Given the description of an element on the screen output the (x, y) to click on. 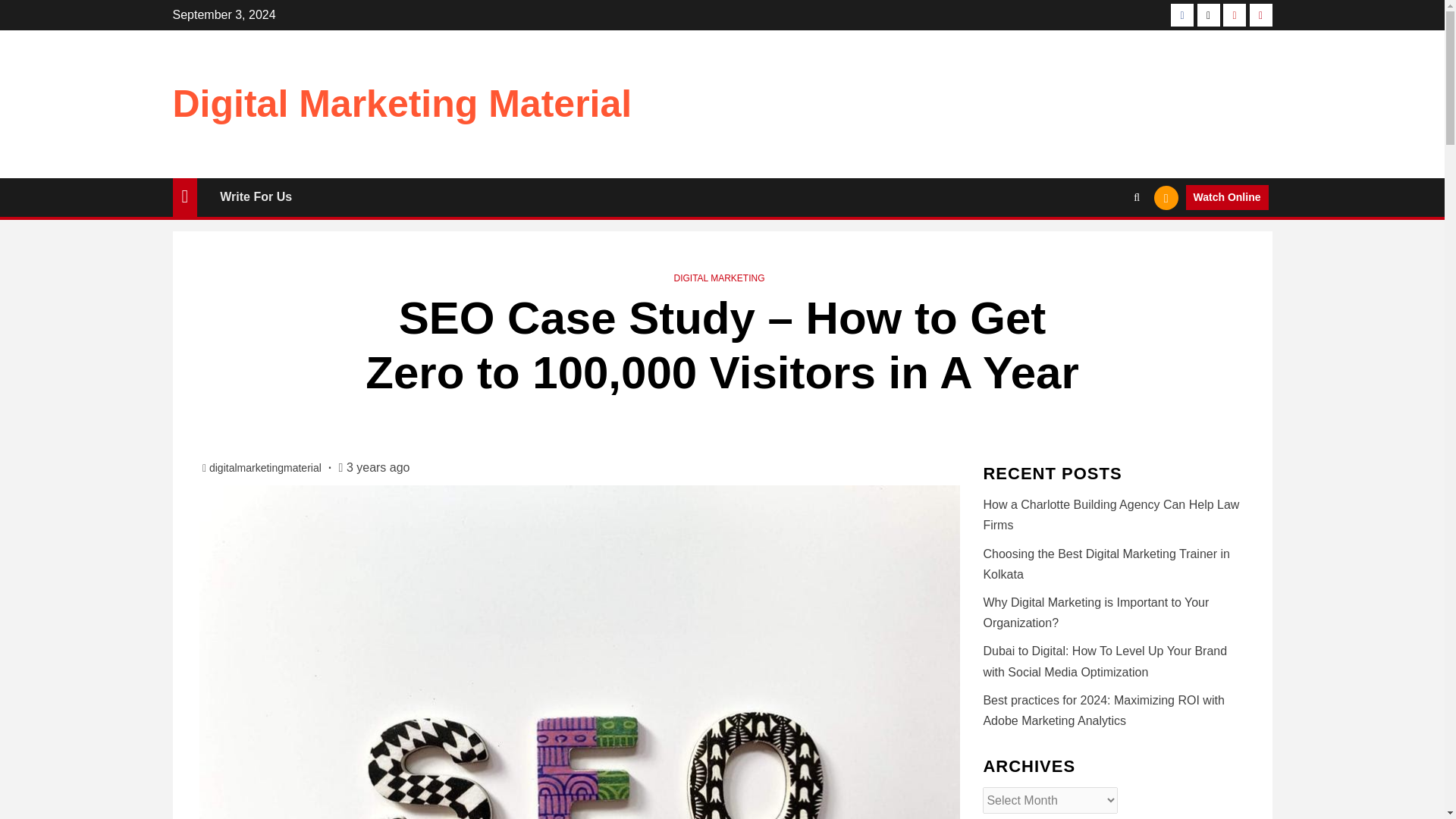
Search (1106, 244)
Watch Online (1227, 197)
Twitter (1208, 15)
Youtube (1234, 15)
Facebook (1181, 15)
Write For Us (255, 196)
Digital Marketing Material (402, 103)
Pinterest (1260, 15)
digitalmarketingmaterial (266, 467)
DIGITAL MARKETING (718, 277)
